Given the description of an element on the screen output the (x, y) to click on. 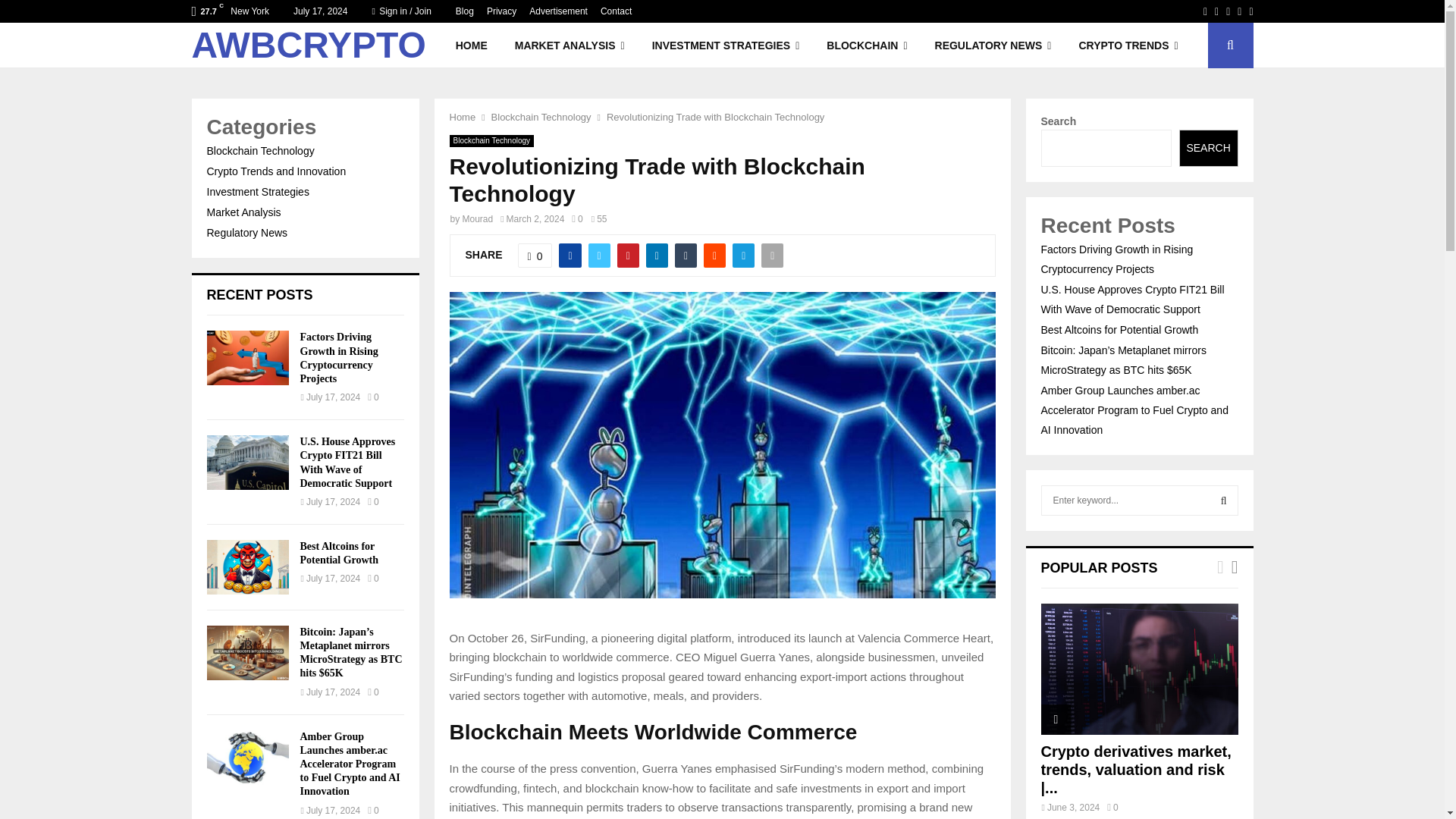
MARKET ANALYSIS (569, 44)
INVESTMENT STRATEGIES (726, 44)
Sign up new account (722, 527)
Login to your account (722, 293)
Advertisement (558, 11)
HOME (471, 44)
Privacy (501, 11)
Contact (615, 11)
AWBCRYPTO (307, 44)
